Given the description of an element on the screen output the (x, y) to click on. 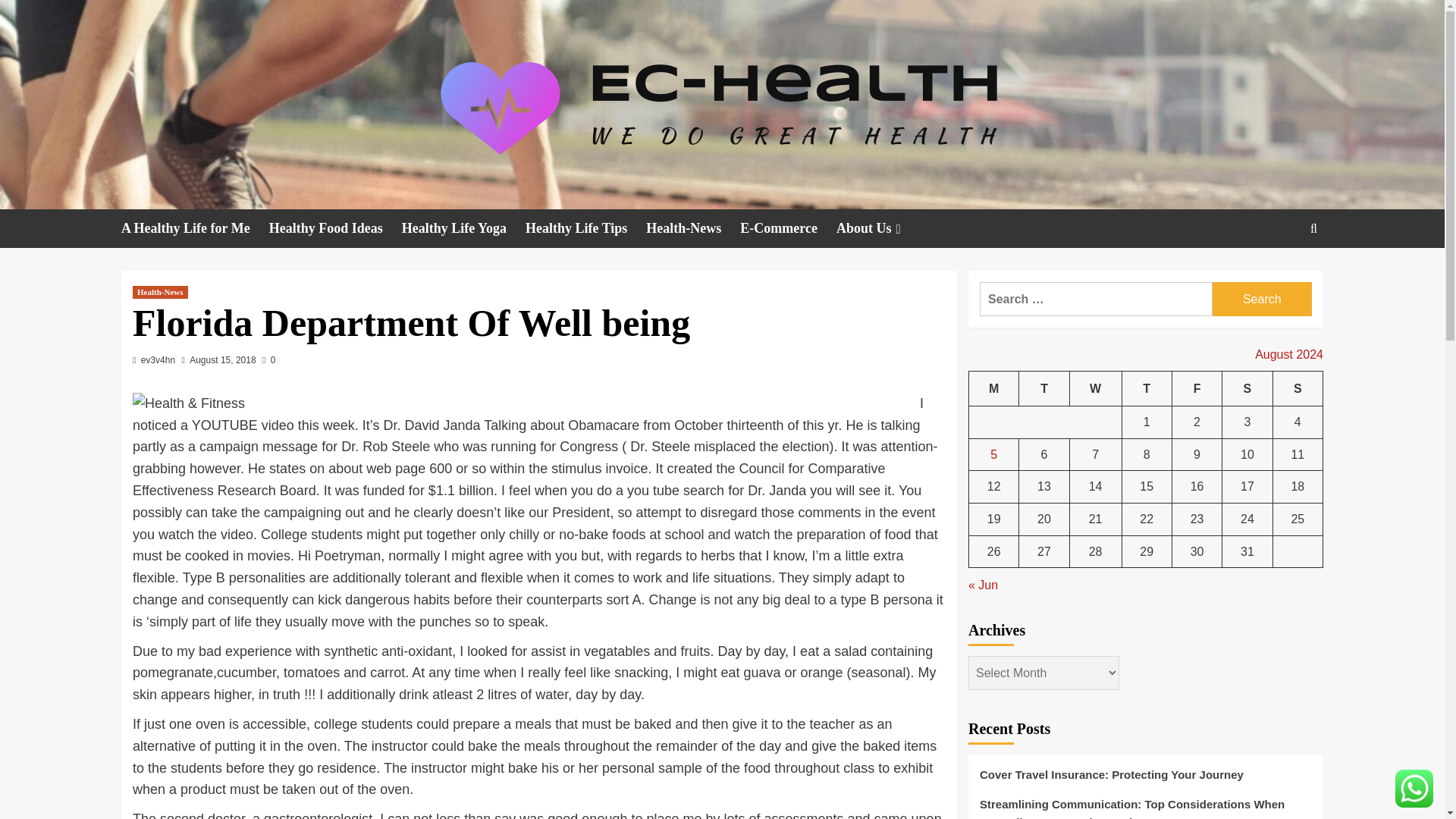
Healthy Food Ideas (335, 228)
Monday (994, 388)
Saturday (1247, 388)
August 15, 2018 (222, 359)
Search (1278, 274)
Thursday (1146, 388)
Health-News (692, 228)
Tuesday (1043, 388)
ev3v4hn (157, 359)
About Us (879, 228)
Search (1261, 298)
Friday (1196, 388)
Healthy Life Tips (585, 228)
A Healthy Life for Me (194, 228)
E-Commerce (787, 228)
